Given the description of an element on the screen output the (x, y) to click on. 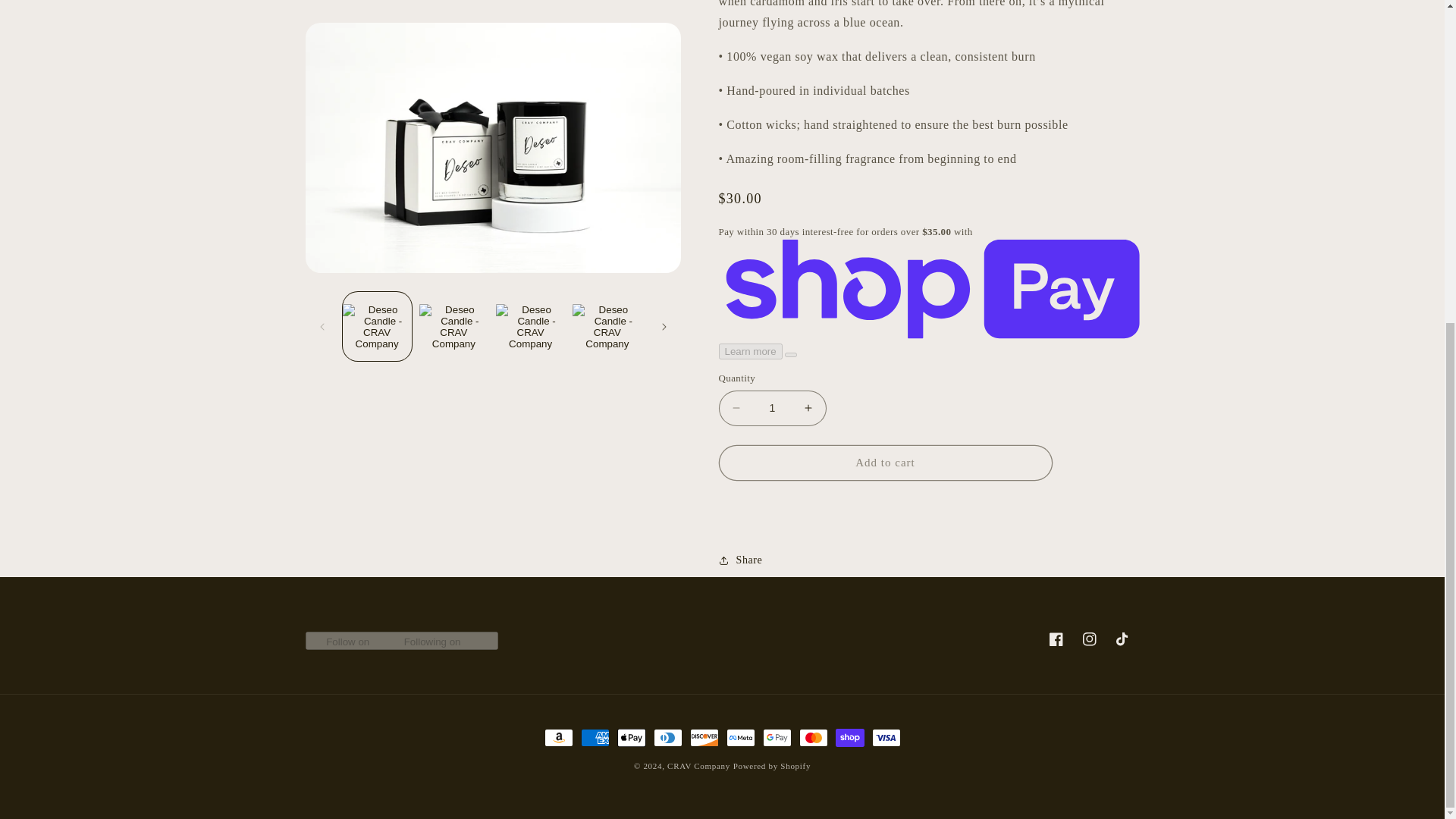
1 (773, 396)
